Given the description of an element on the screen output the (x, y) to click on. 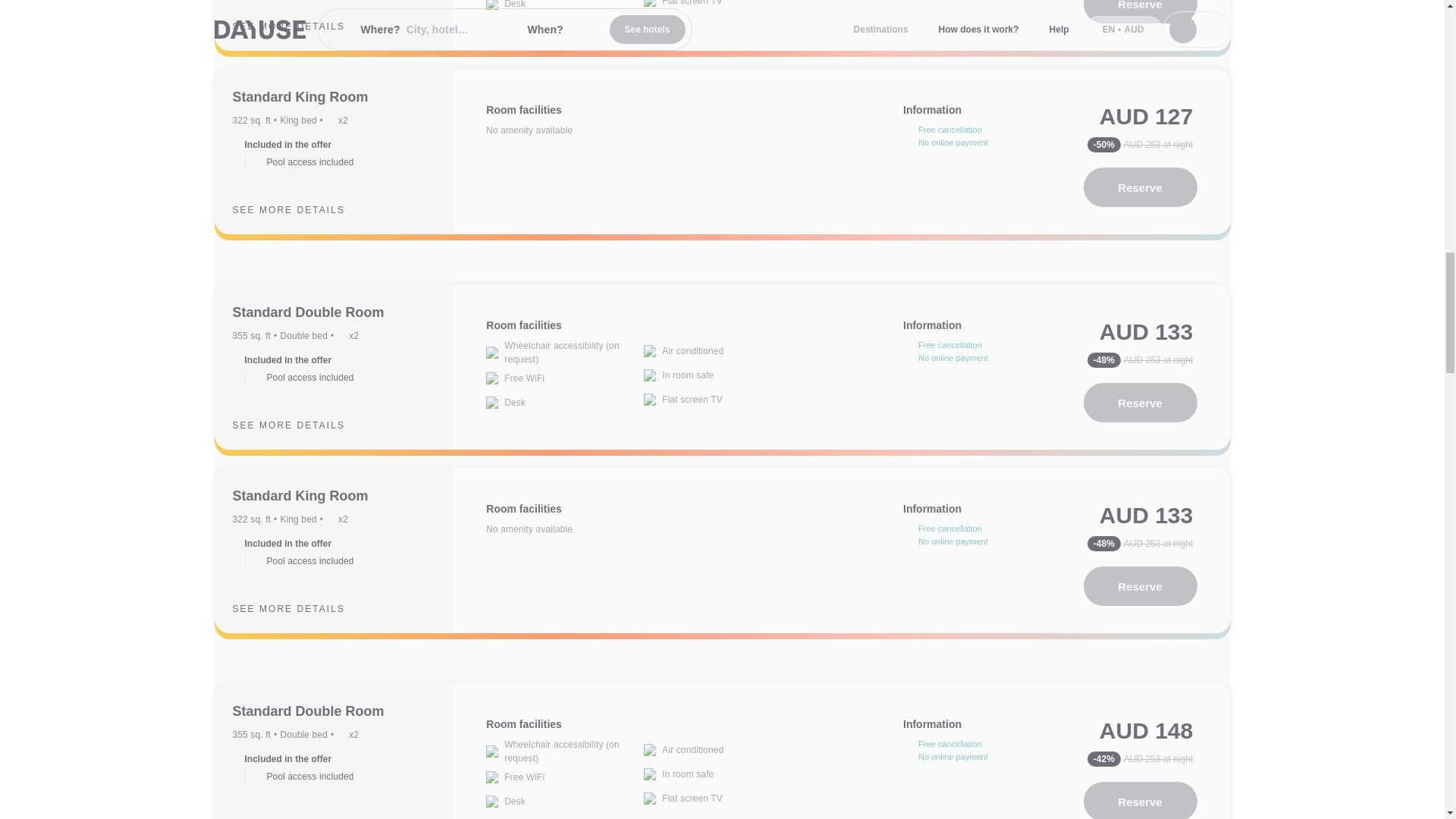
SEE MORE DETAILS (300, 26)
